Given the description of an element on the screen output the (x, y) to click on. 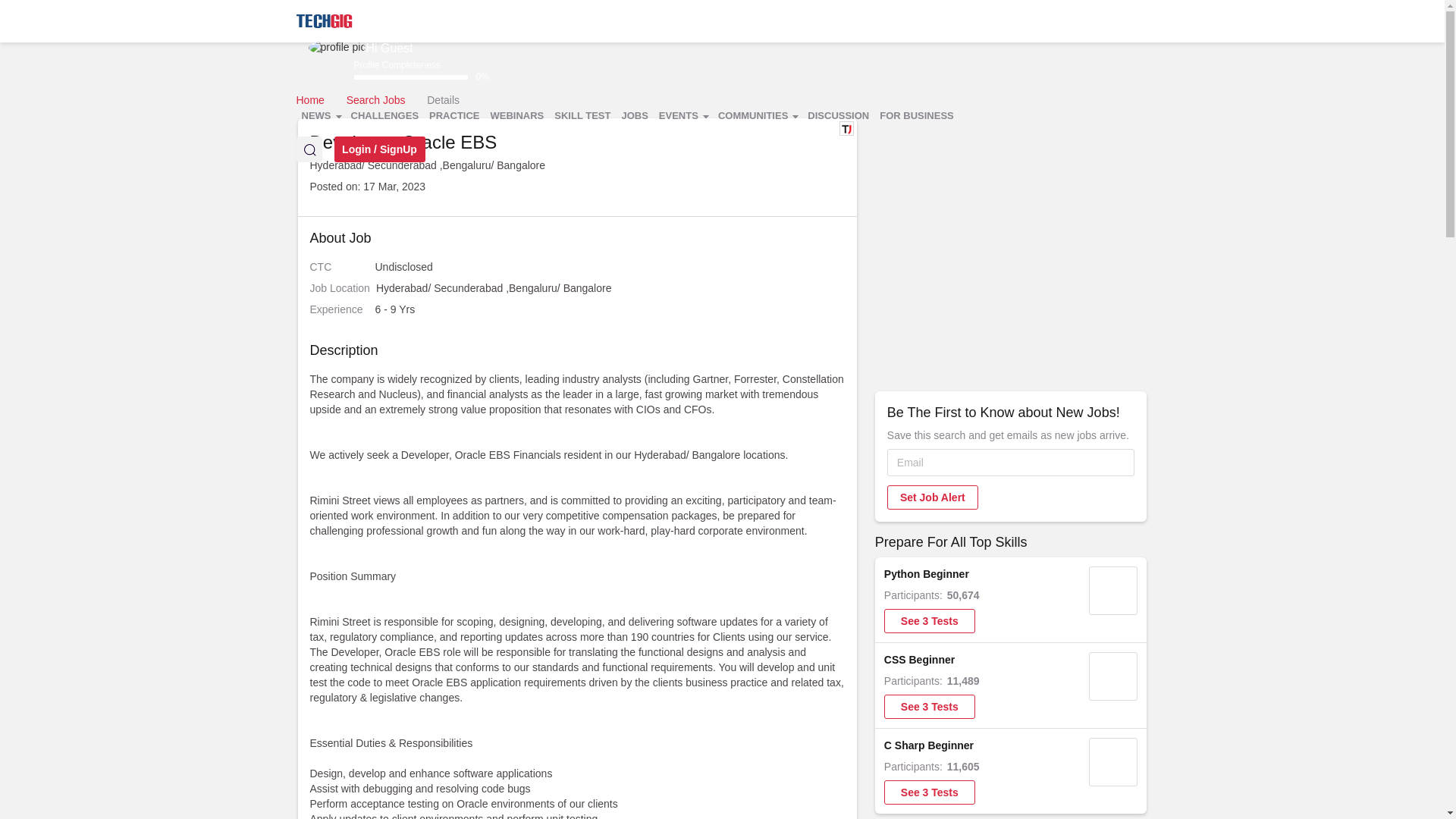
JOBS (633, 115)
EVENTS (683, 115)
CHALLENGES (385, 115)
Sourced from TJ (846, 128)
NEWS (320, 115)
COMMUNITIES (757, 115)
WEBINARS (517, 115)
PRACTICE (453, 115)
SKILL TEST (581, 115)
